Given the description of an element on the screen output the (x, y) to click on. 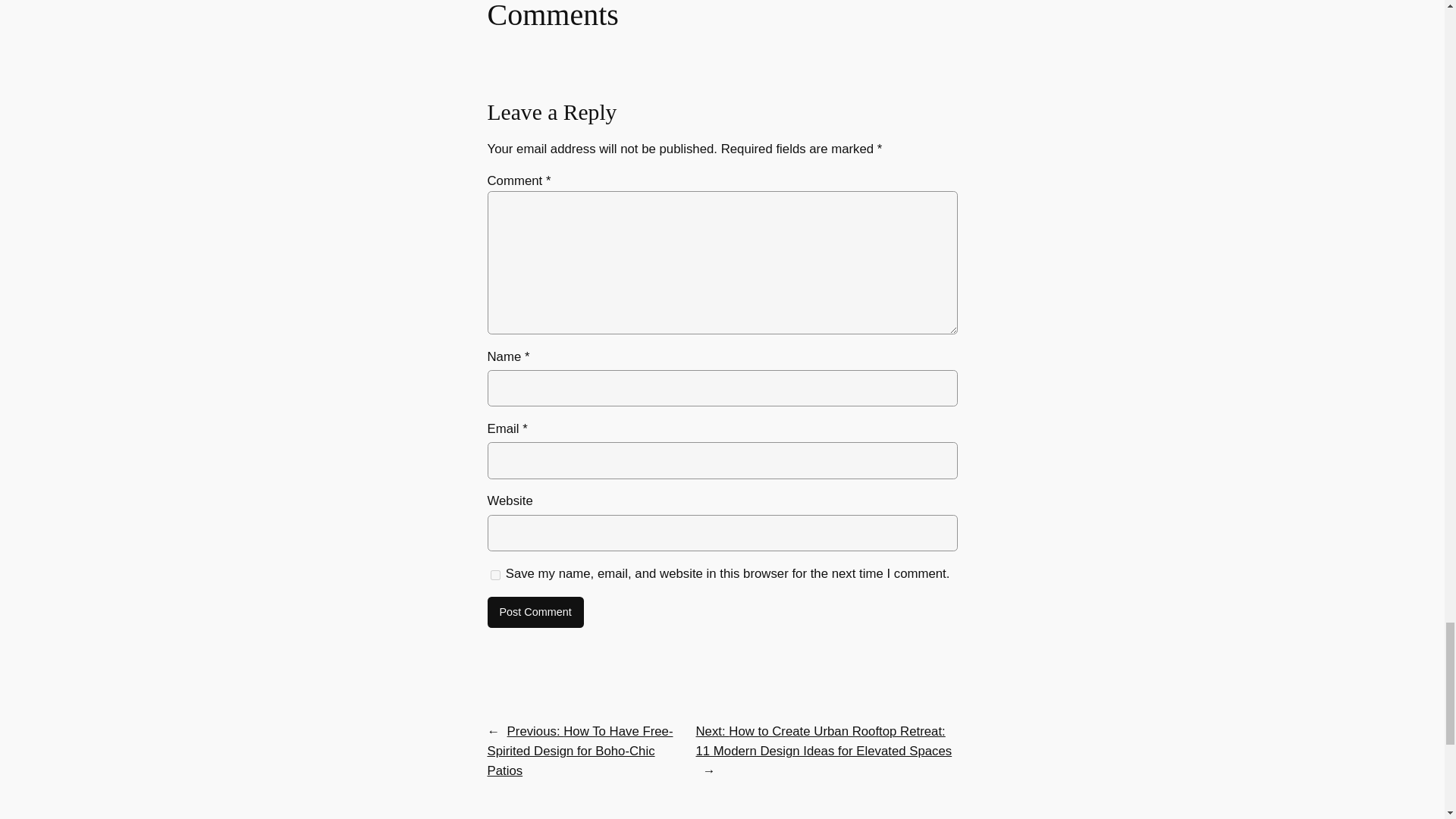
Post Comment (534, 612)
Post Comment (534, 612)
